Given the description of an element on the screen output the (x, y) to click on. 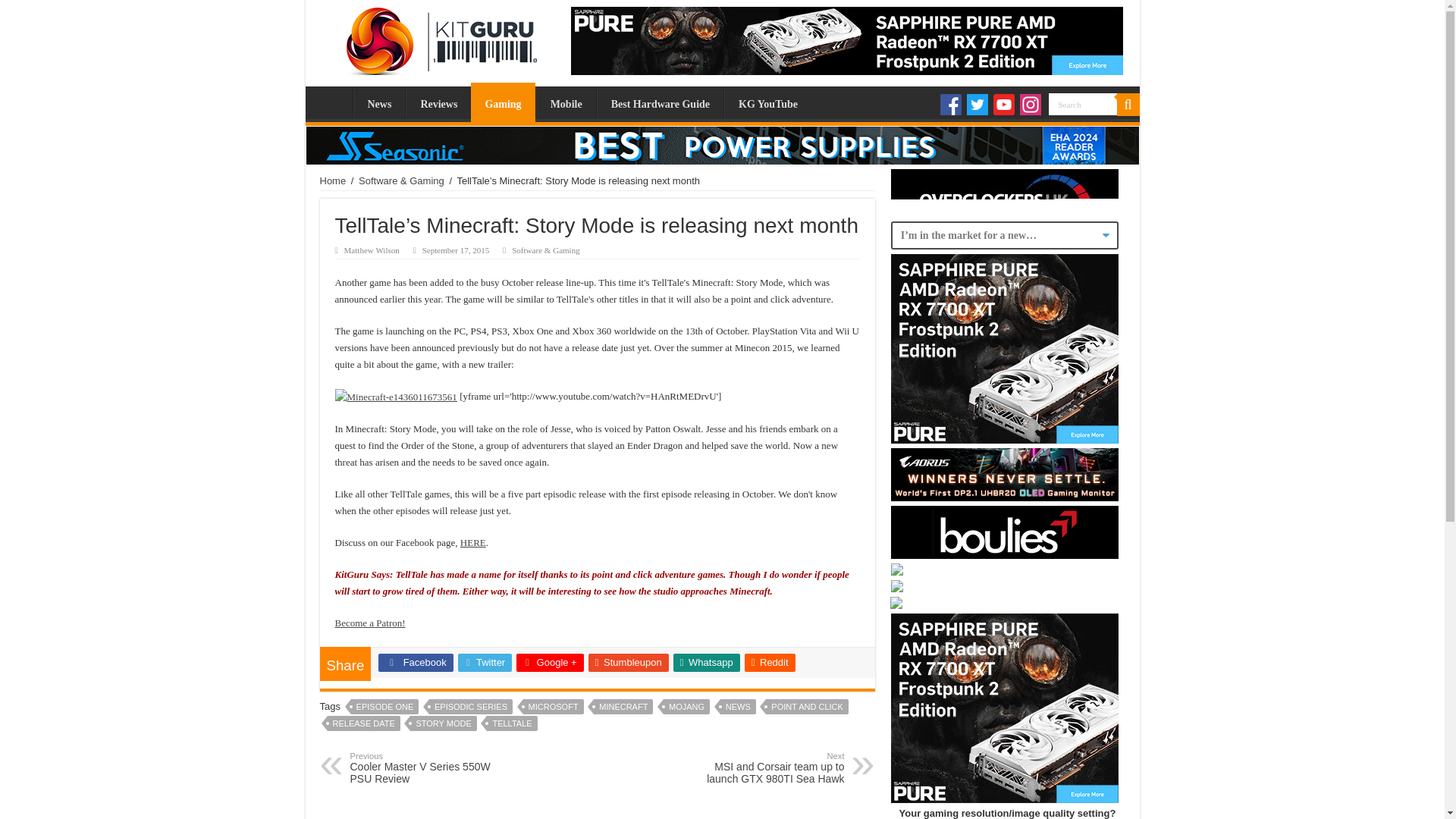
Twitter (977, 104)
Facebook (950, 104)
Mobile (565, 101)
Instagram (1030, 104)
Search (1082, 104)
Become a Patron! (370, 622)
Search (1082, 104)
News (379, 101)
Home (333, 180)
Reviews (438, 101)
